Given the description of an element on the screen output the (x, y) to click on. 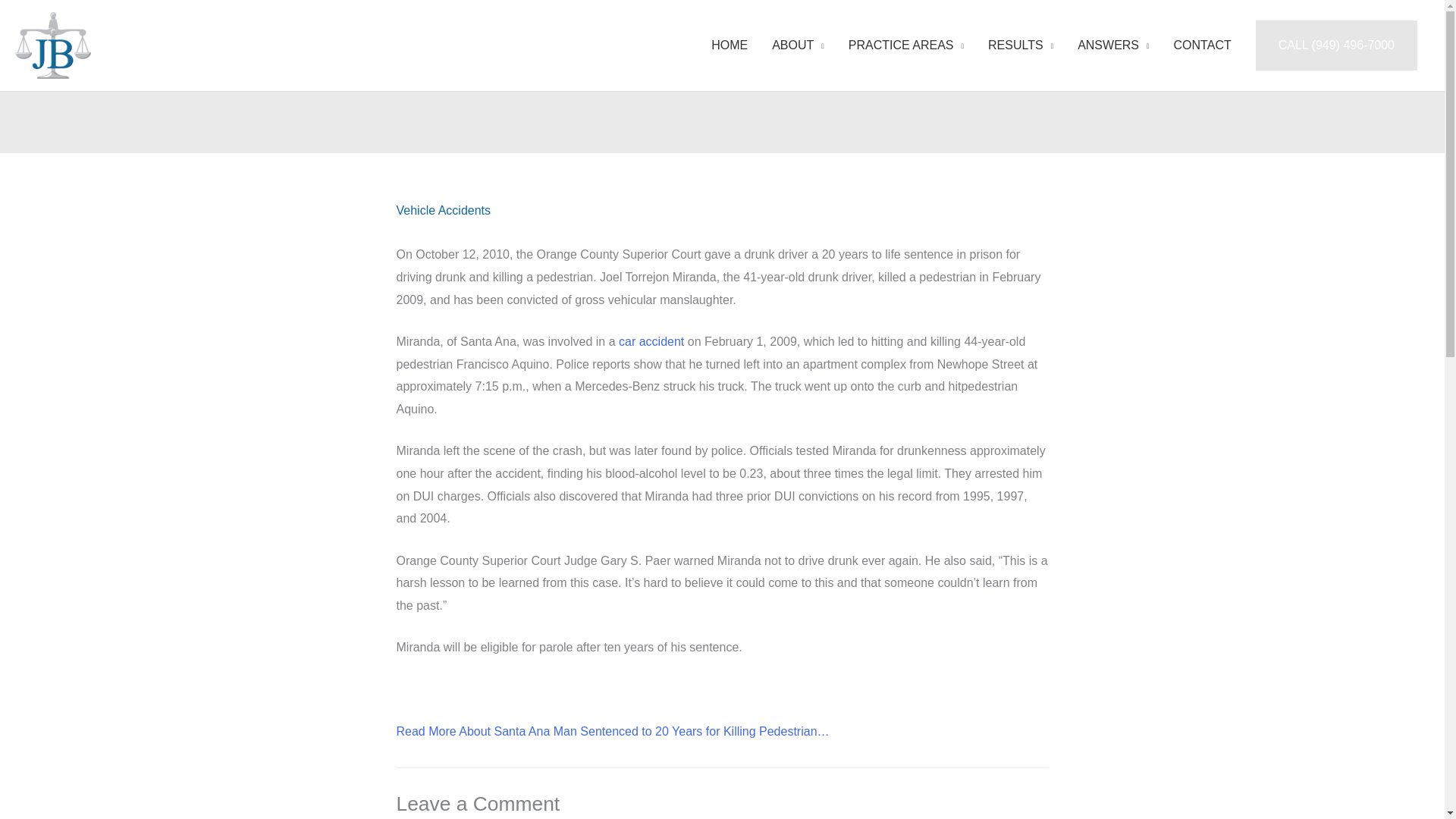
car accident (651, 341)
ANSWERS (1112, 45)
CONTACT (1202, 45)
PRACTICE AREAS (905, 45)
RESULTS (1020, 45)
Vehicle Accidents (443, 210)
